Given the description of an element on the screen output the (x, y) to click on. 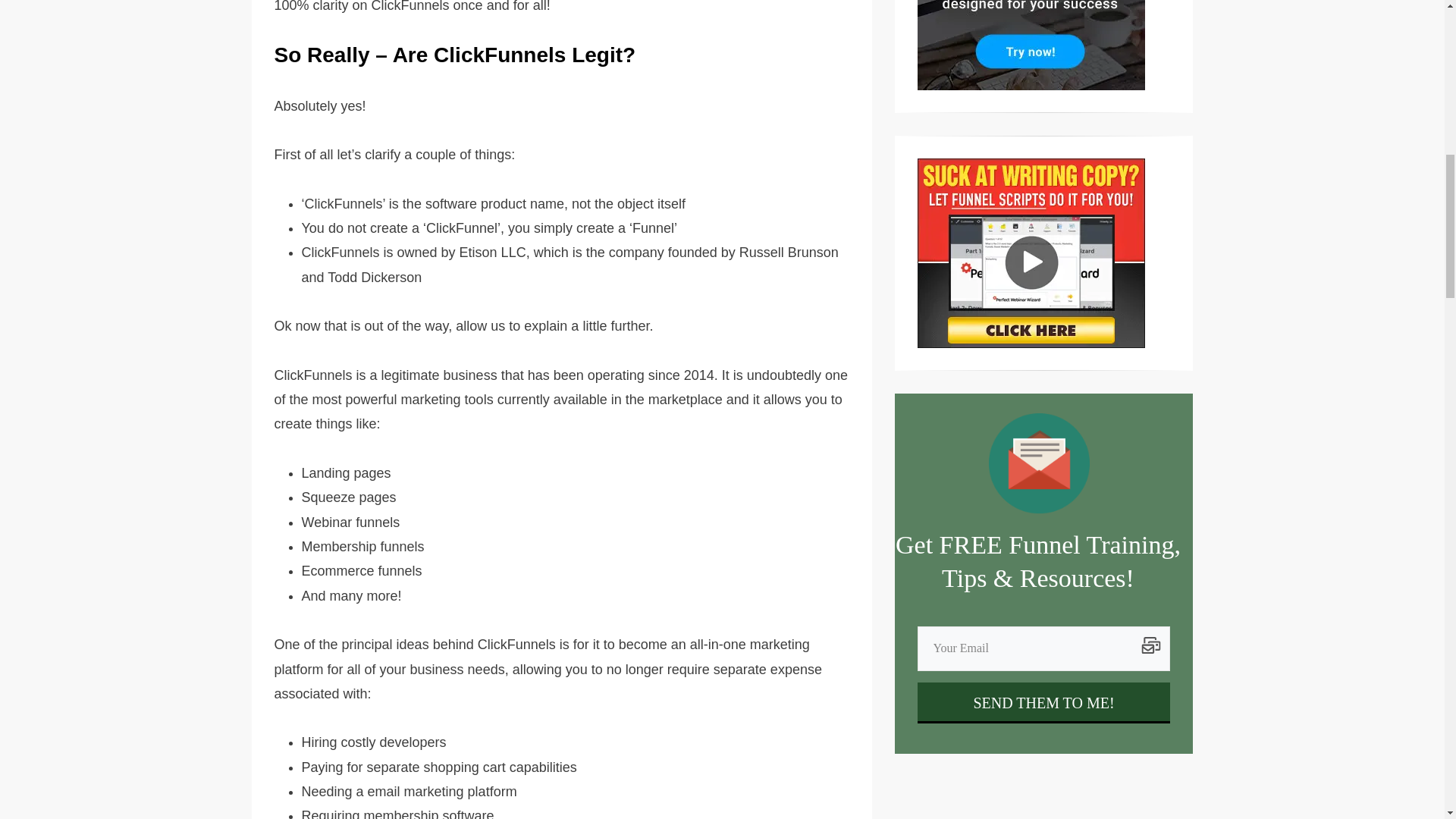
SEND THEM TO ME! (1043, 702)
